Given the description of an element on the screen output the (x, y) to click on. 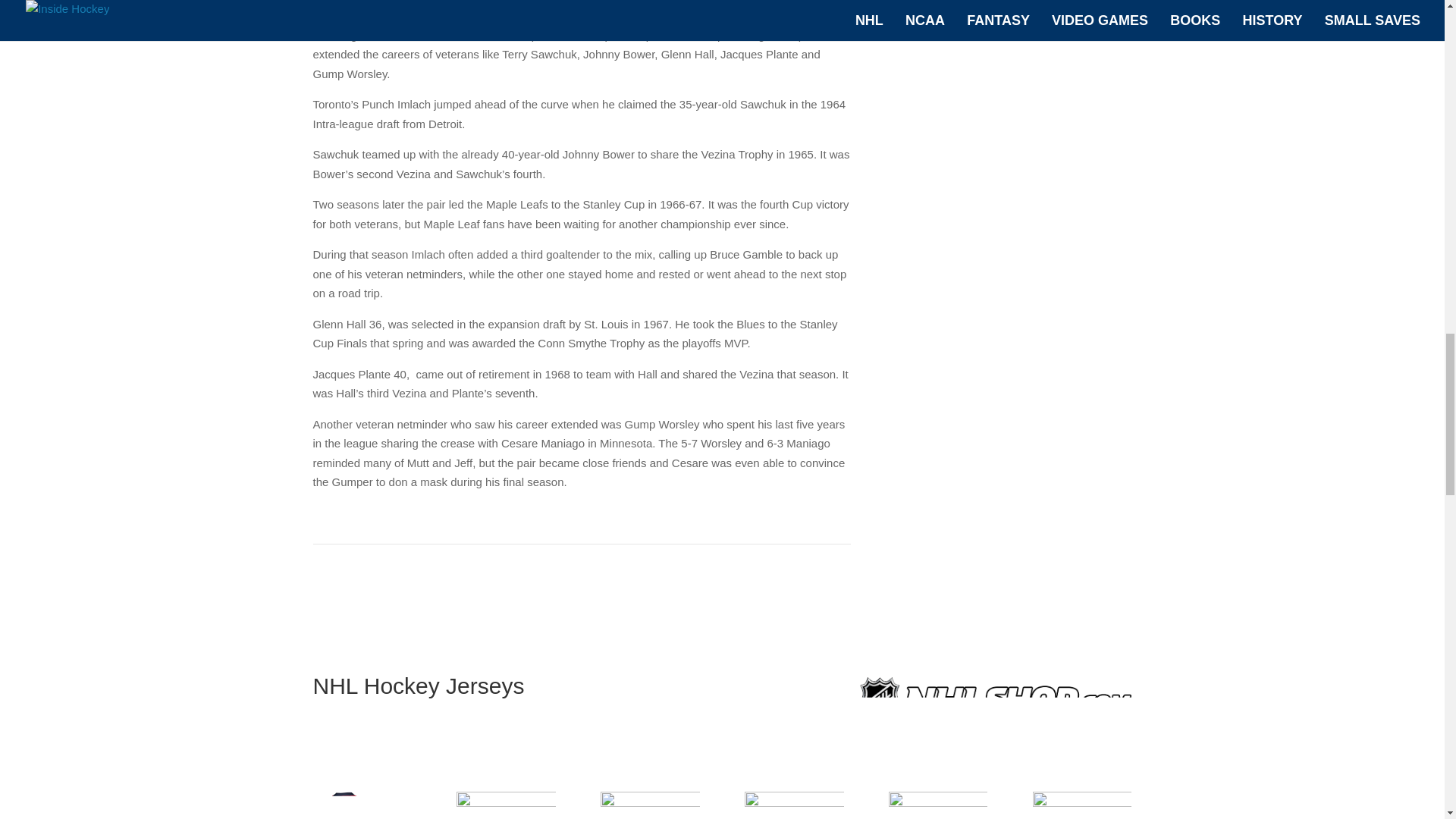
jersey-was-ovechkin (361, 805)
jersey-tbl-hedman (793, 805)
jersey-tor-matthews (648, 805)
edm-jersey-mcdavid (1081, 805)
fanatics-nhl-shop-impact (995, 712)
jersey-pit-crosby (937, 805)
jersey-fla-tkachuk (505, 805)
